Given the description of an element on the screen output the (x, y) to click on. 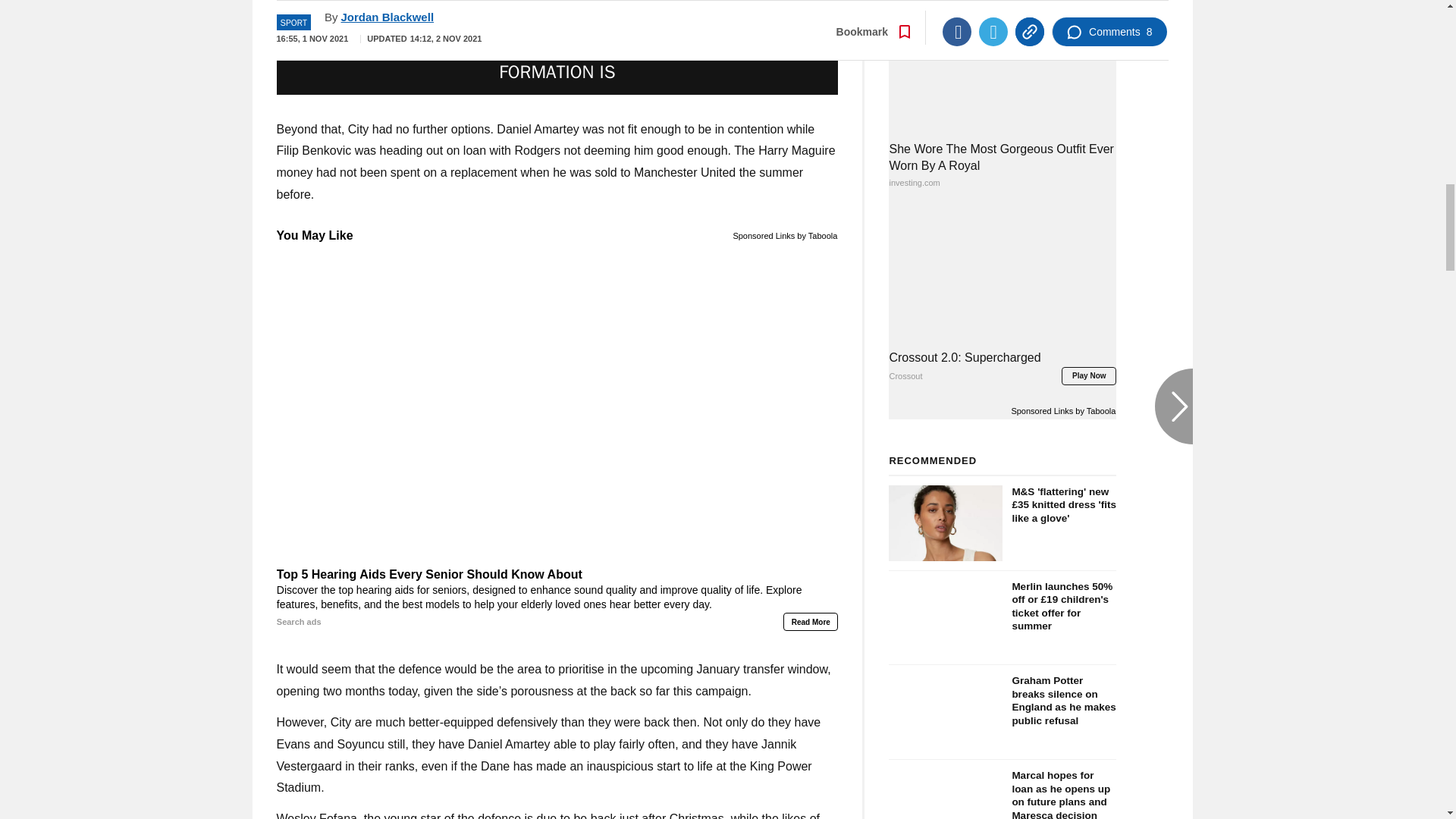
Top 5 Hearing Aids Every Senior Should Know About (557, 598)
